Given the description of an element on the screen output the (x, y) to click on. 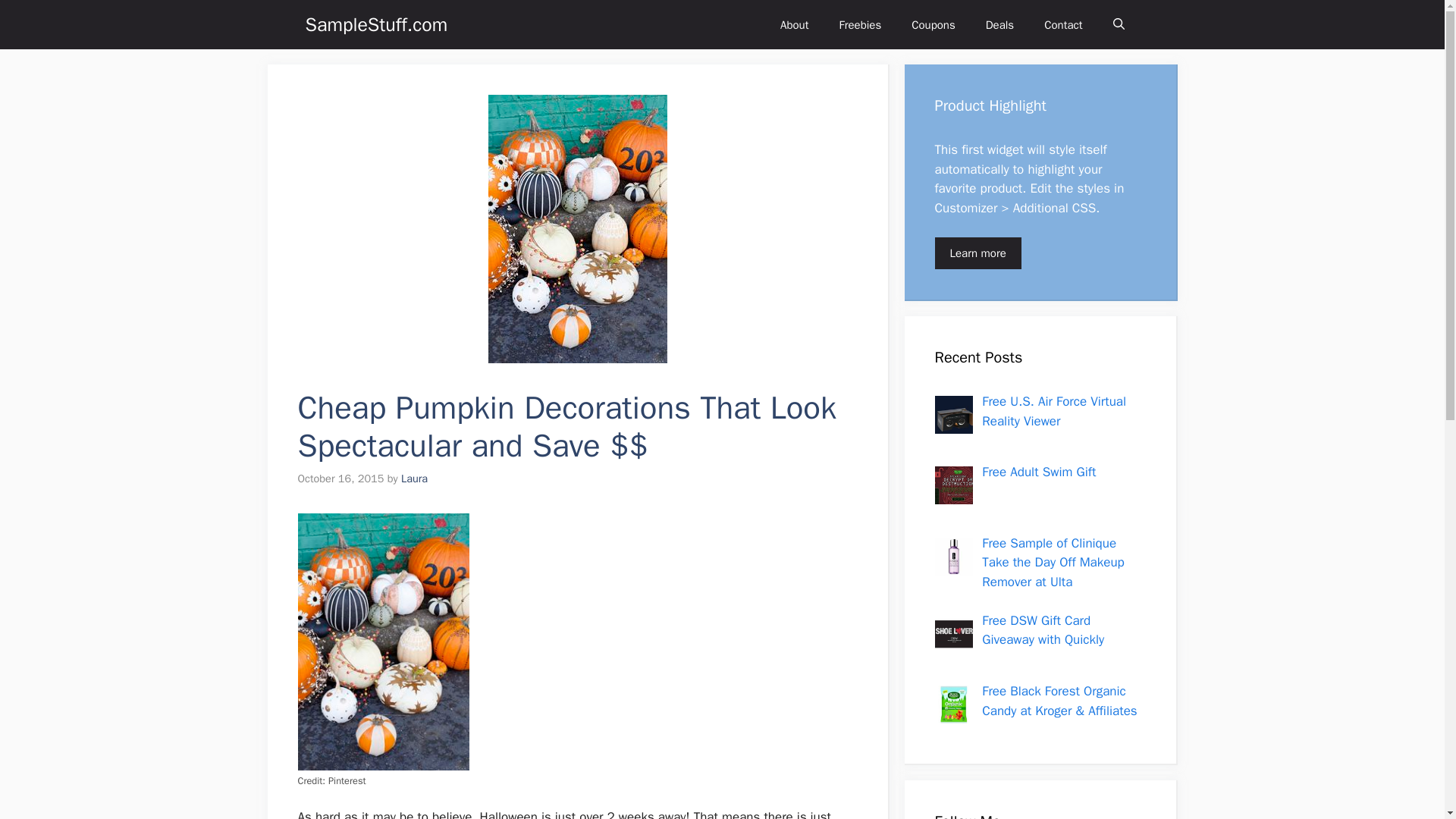
View all posts by Laura (414, 478)
Contact (1063, 23)
About (794, 23)
Coupons (933, 23)
Free DSW Gift Card Giveaway with Quickly (1042, 630)
Freebies (860, 23)
Free Adult Swim Gift (1038, 471)
Laura (414, 478)
SampleStuff.com (375, 24)
Learn more (977, 252)
Deals (1000, 23)
Free U.S. Air Force Virtual Reality Viewer (1053, 411)
